Given the description of an element on the screen output the (x, y) to click on. 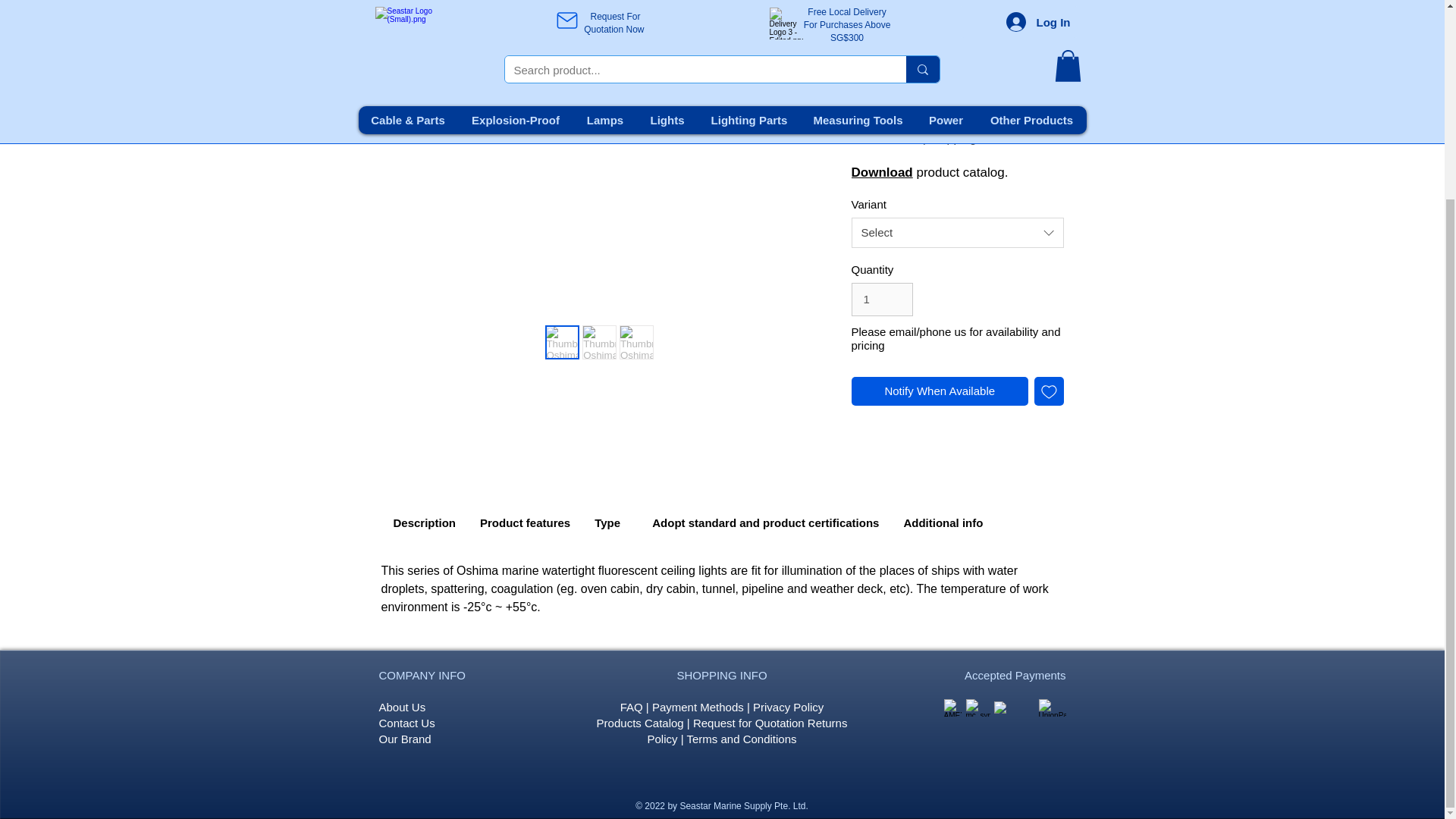
Use right and left arrows to navigate between tabs (611, 524)
Use right and left arrows to navigate between tabs (524, 524)
Use right and left arrows to navigate between tabs (423, 524)
1 (881, 299)
Use right and left arrows to navigate between tabs (942, 524)
Use right and left arrows to navigate between tabs (765, 524)
